Given the description of an element on the screen output the (x, y) to click on. 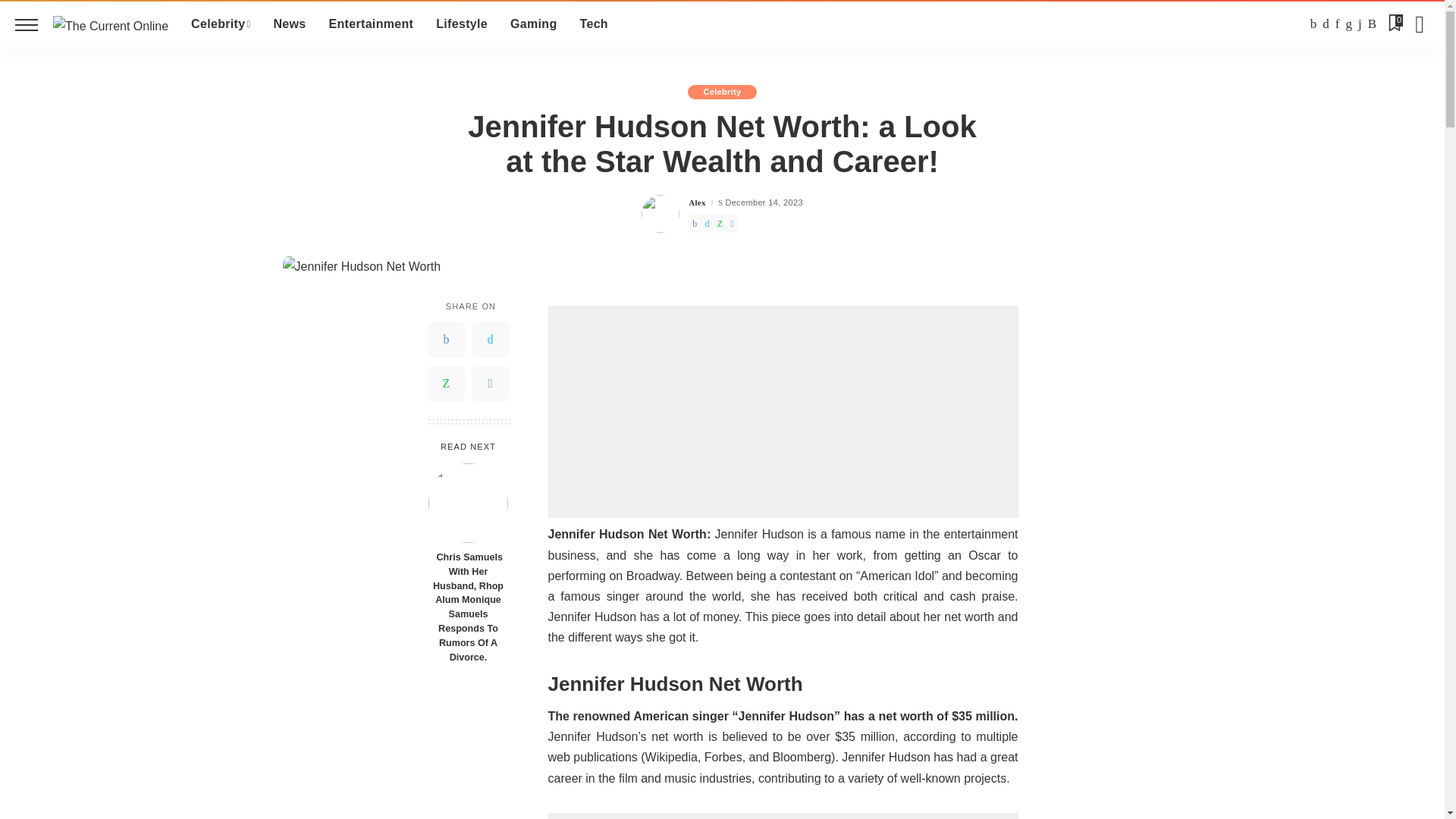
Telegram (489, 383)
Gaming (533, 23)
Tech (594, 23)
Twitter (489, 339)
Celebrity (220, 23)
2023-12-14T21:54:34-05:00 (763, 203)
News (289, 23)
Lifestyle (462, 23)
Facebook (446, 339)
Entertainment (371, 23)
